Given the description of an element on the screen output the (x, y) to click on. 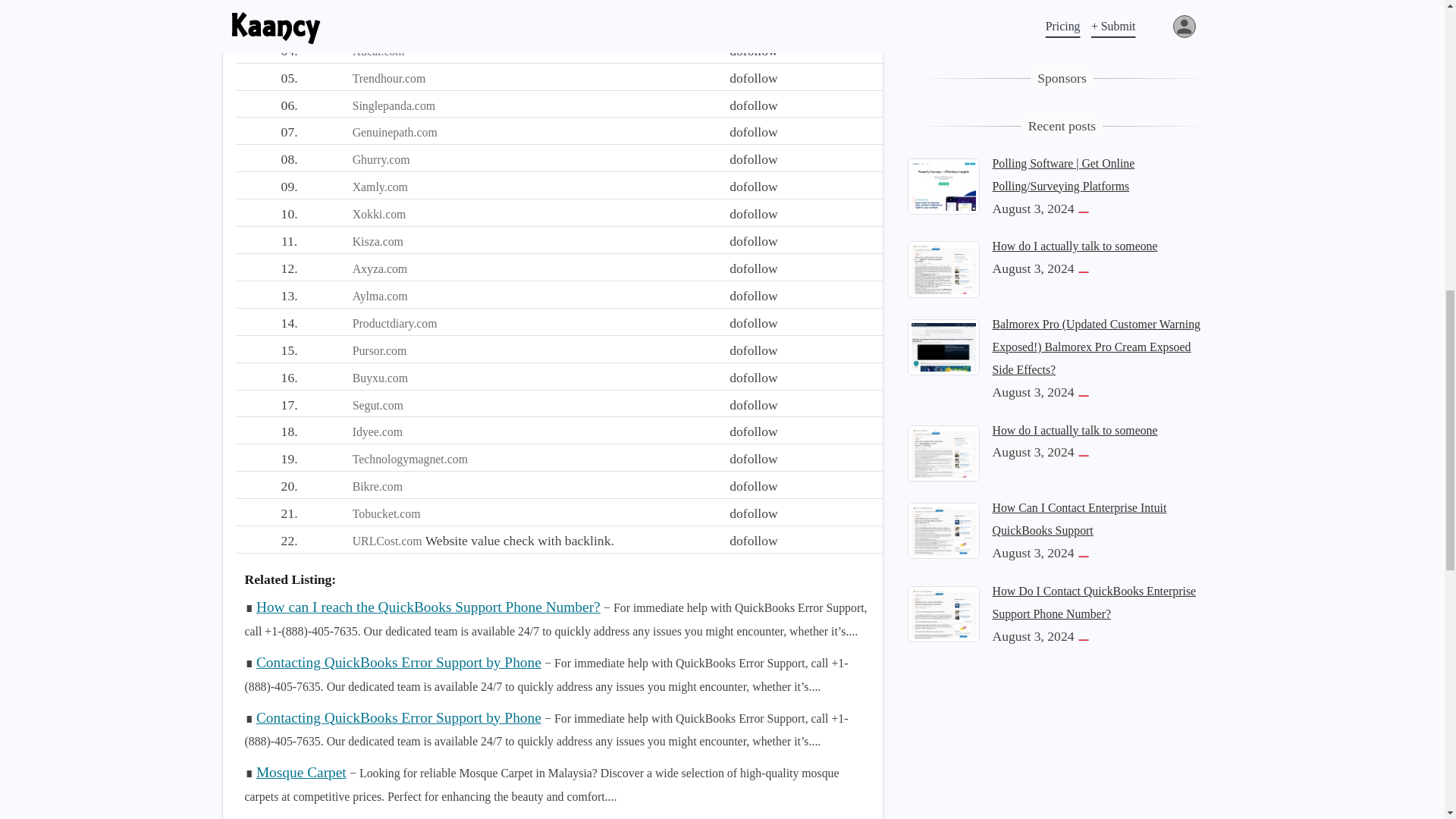
Ghurry.com (381, 159)
Aylma.com (379, 295)
Mosque Carpet (301, 772)
Xokki.com (379, 214)
Genuinepath.com (395, 132)
How can I reach the QuickBooks Support Phone Number? (427, 606)
Trendhour.com (389, 78)
Pudya.com (379, 23)
Kisza.com (377, 241)
Lieel.com (376, 1)
